Given the description of an element on the screen output the (x, y) to click on. 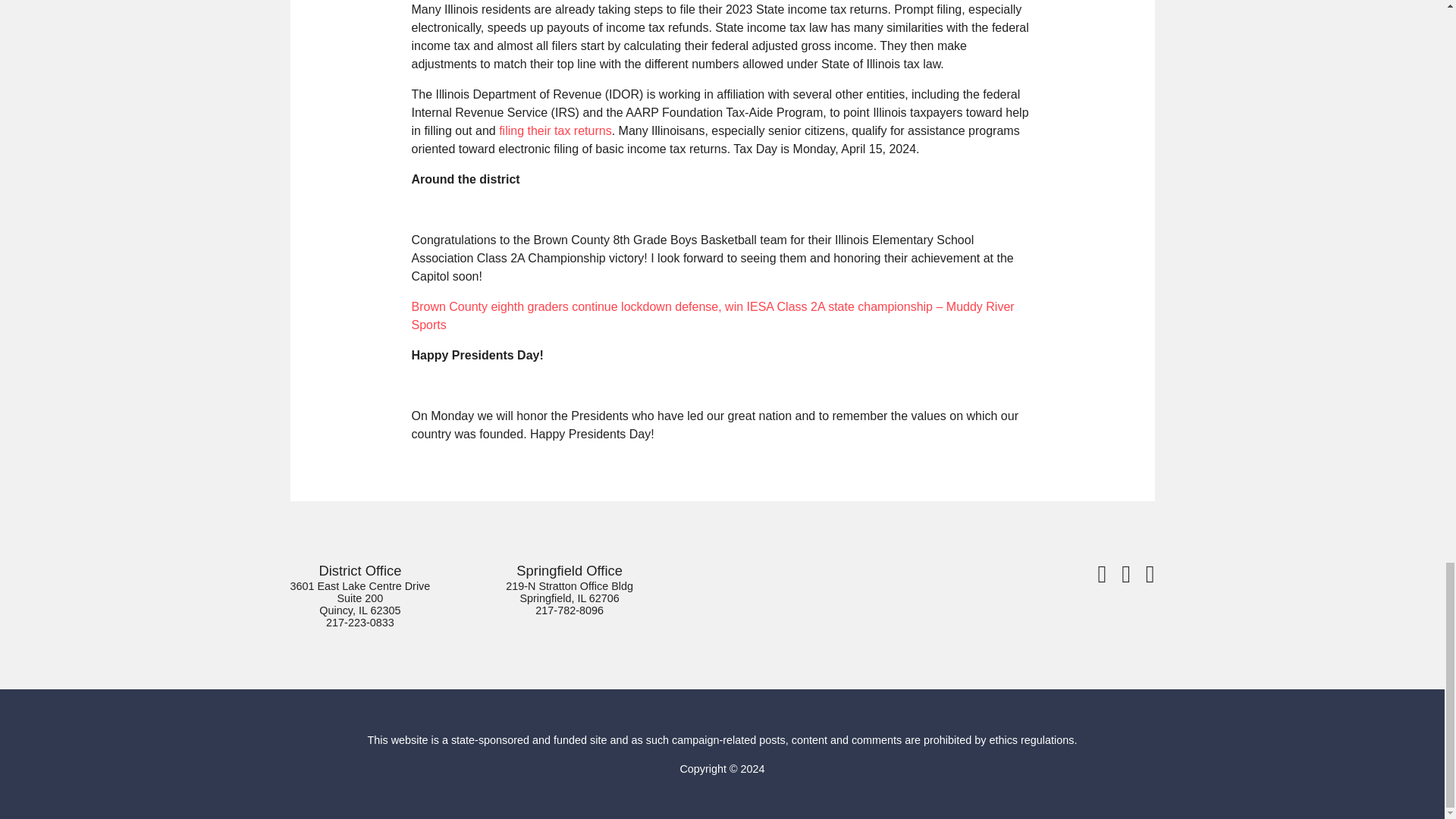
filing their tax returns (555, 130)
